Given the description of an element on the screen output the (x, y) to click on. 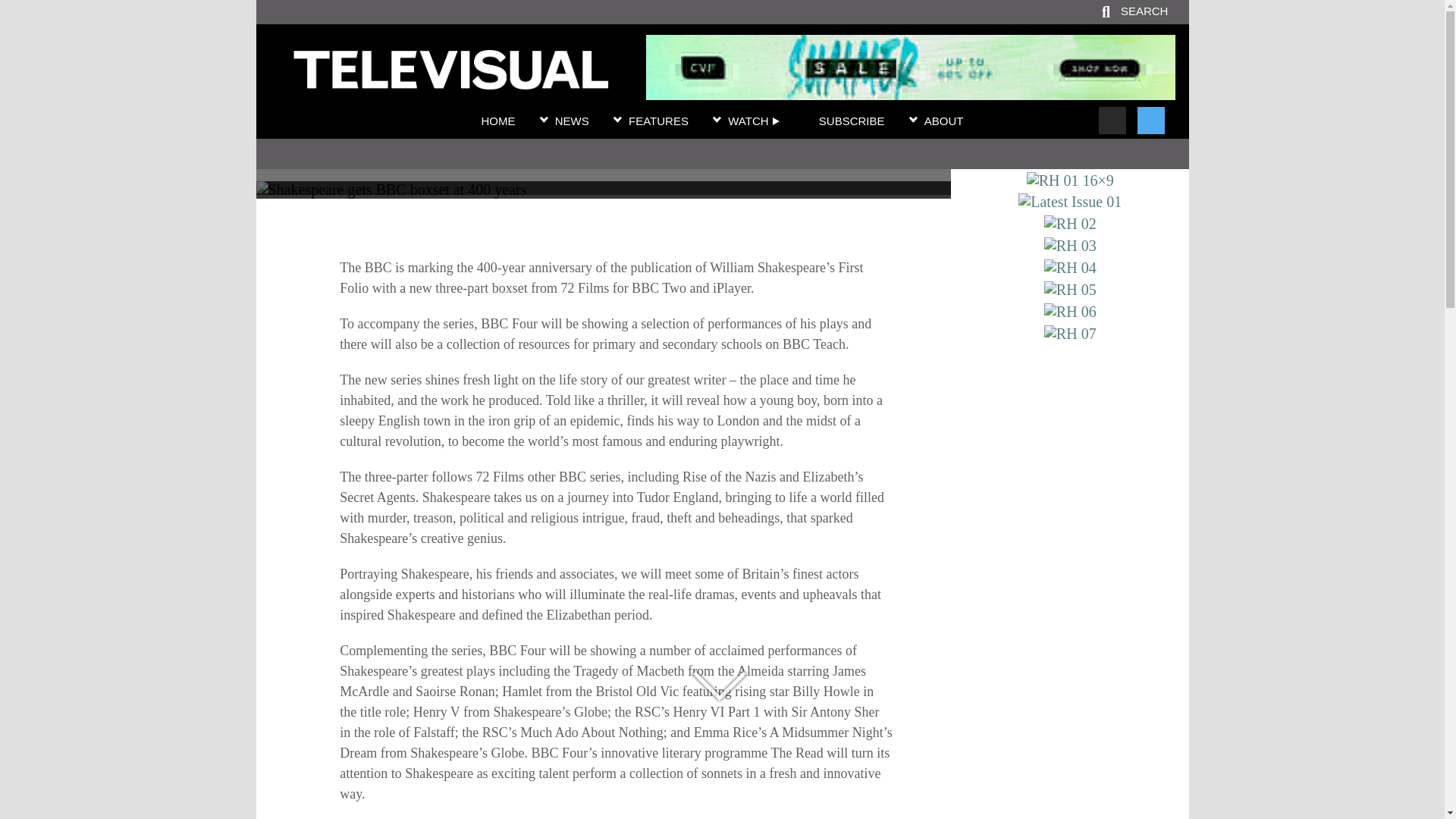
FEATURES (658, 121)
NEWS (571, 121)
HOME (497, 121)
SUBSCRIBE (851, 121)
WATCH (753, 121)
Shakespeare gets BBC boxset at 400 years (603, 159)
ABOUT (943, 121)
Shakespeare gets BBC boxset at 400 years (451, 80)
